Given the description of an element on the screen output the (x, y) to click on. 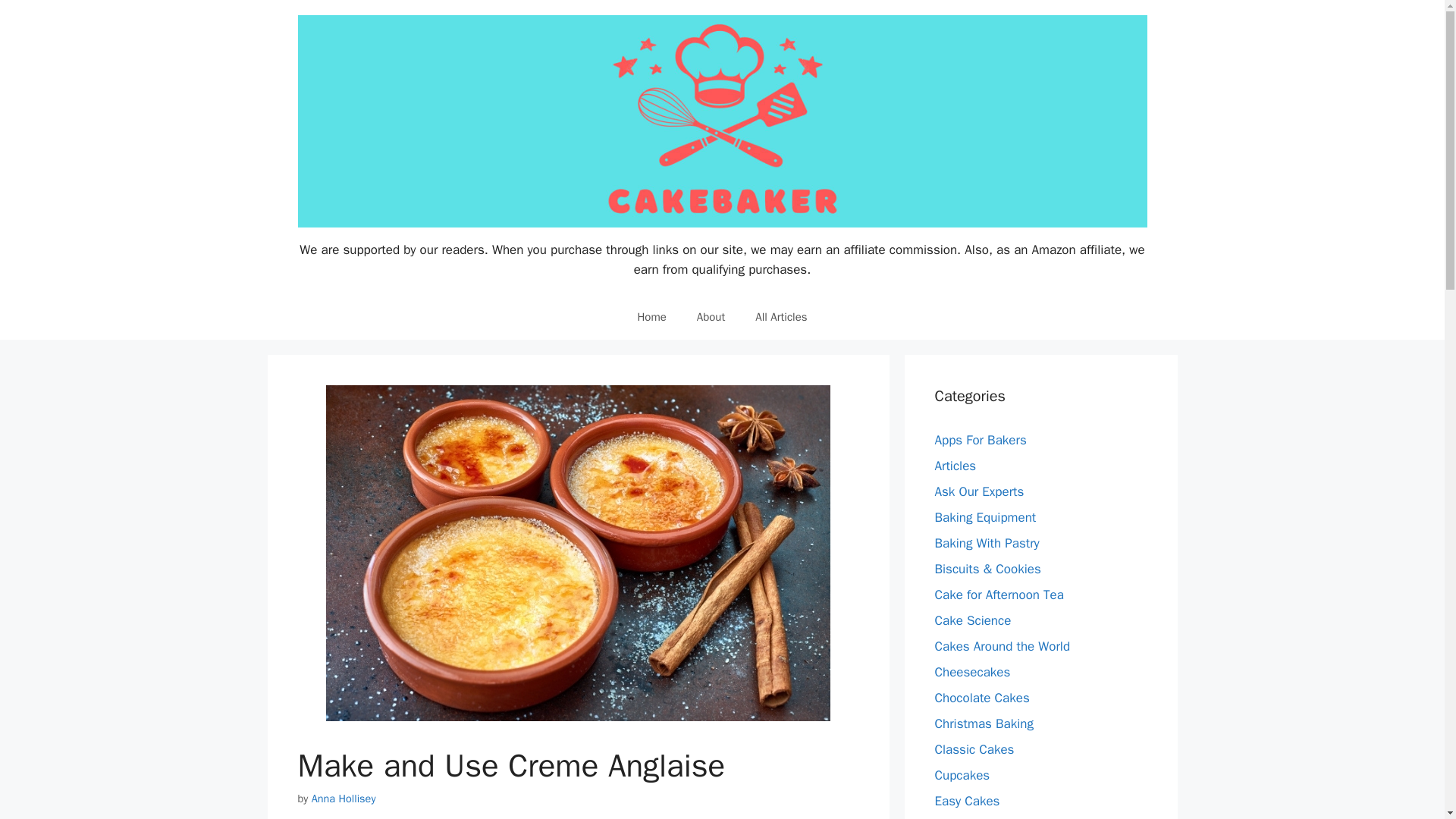
Cake for Afternoon Tea (998, 594)
Anna Hollisey (343, 798)
Cheesecakes (972, 672)
Cakes Around the World (1002, 646)
Classic Cakes (973, 749)
Ask Our Experts (978, 491)
View all posts by Anna Hollisey (343, 798)
Easy Cakes (966, 801)
Cake Science (972, 620)
Christmas Baking (983, 723)
